Given the description of an element on the screen output the (x, y) to click on. 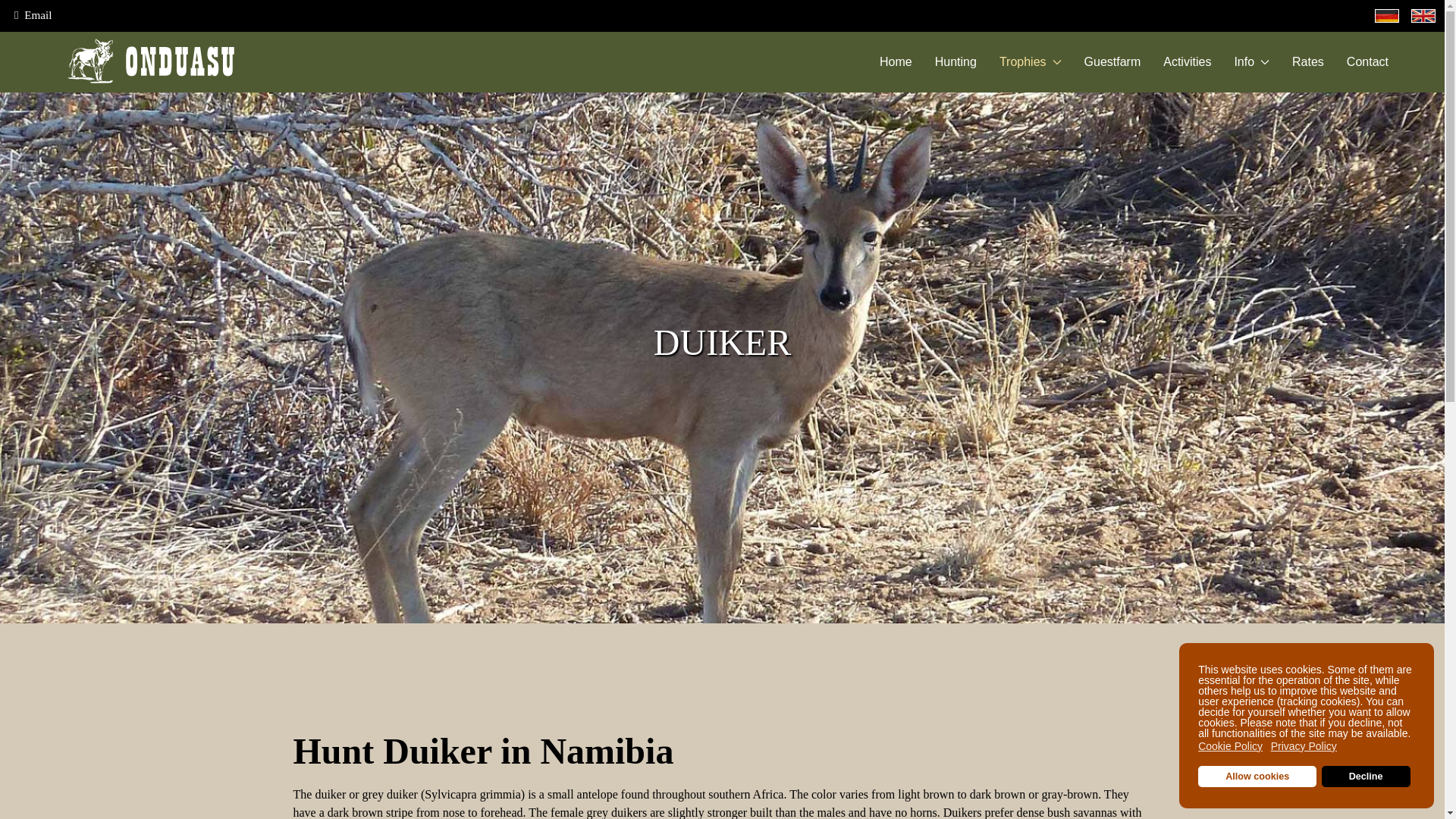
Privacy Policy (1305, 745)
Allow cookies (1257, 776)
  Email (32, 14)
Decline (1366, 776)
Cookie Policy (1231, 745)
Guestfarm (1112, 61)
Onduasu Hunting (32, 14)
Trophies (1029, 61)
